Given the description of an element on the screen output the (x, y) to click on. 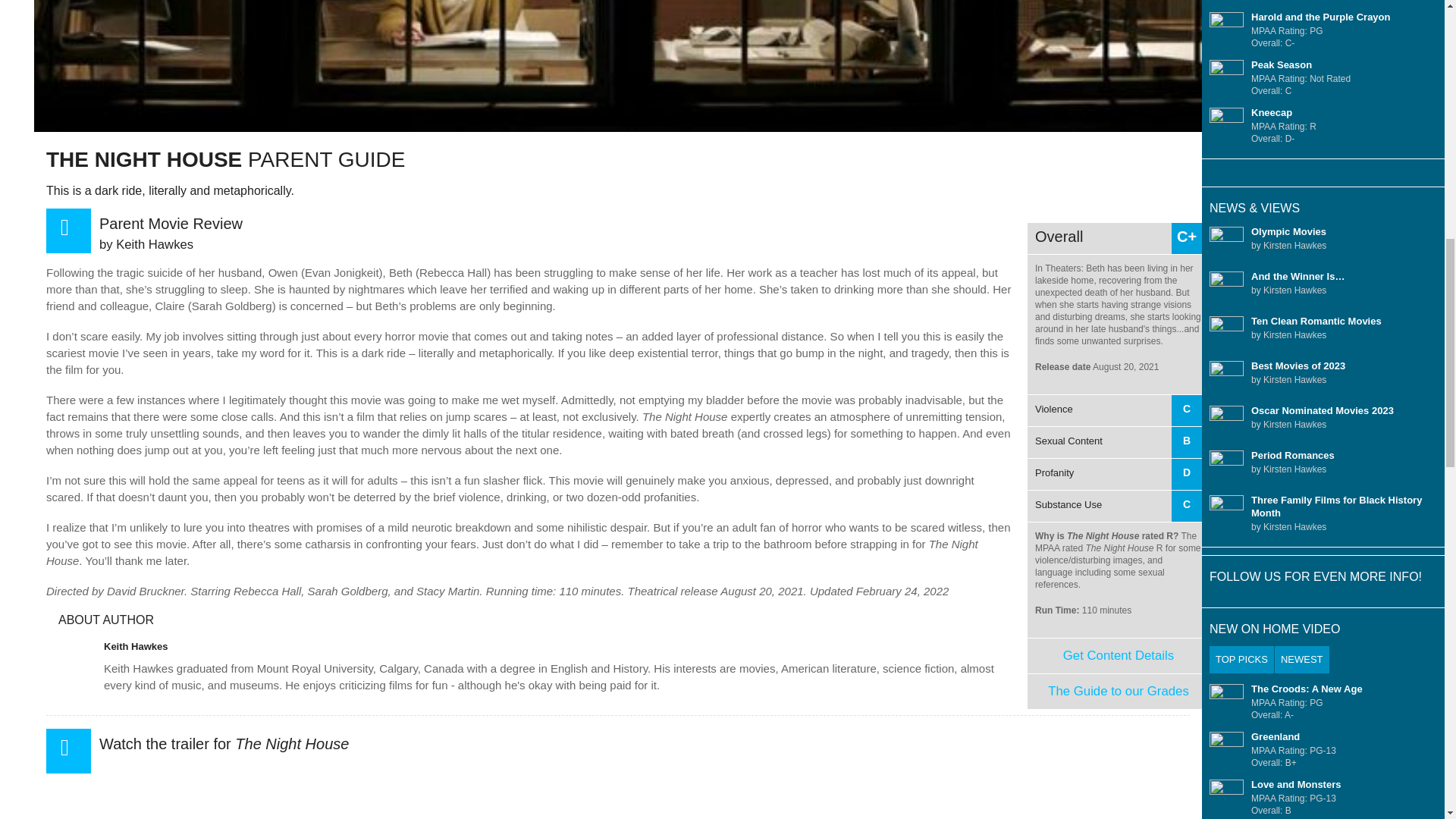
Get Content Details (1117, 655)
Keith Hawkes (135, 645)
The Guide to our Grades (1118, 690)
YouTube video player (1114, 457)
